Given the description of an element on the screen output the (x, y) to click on. 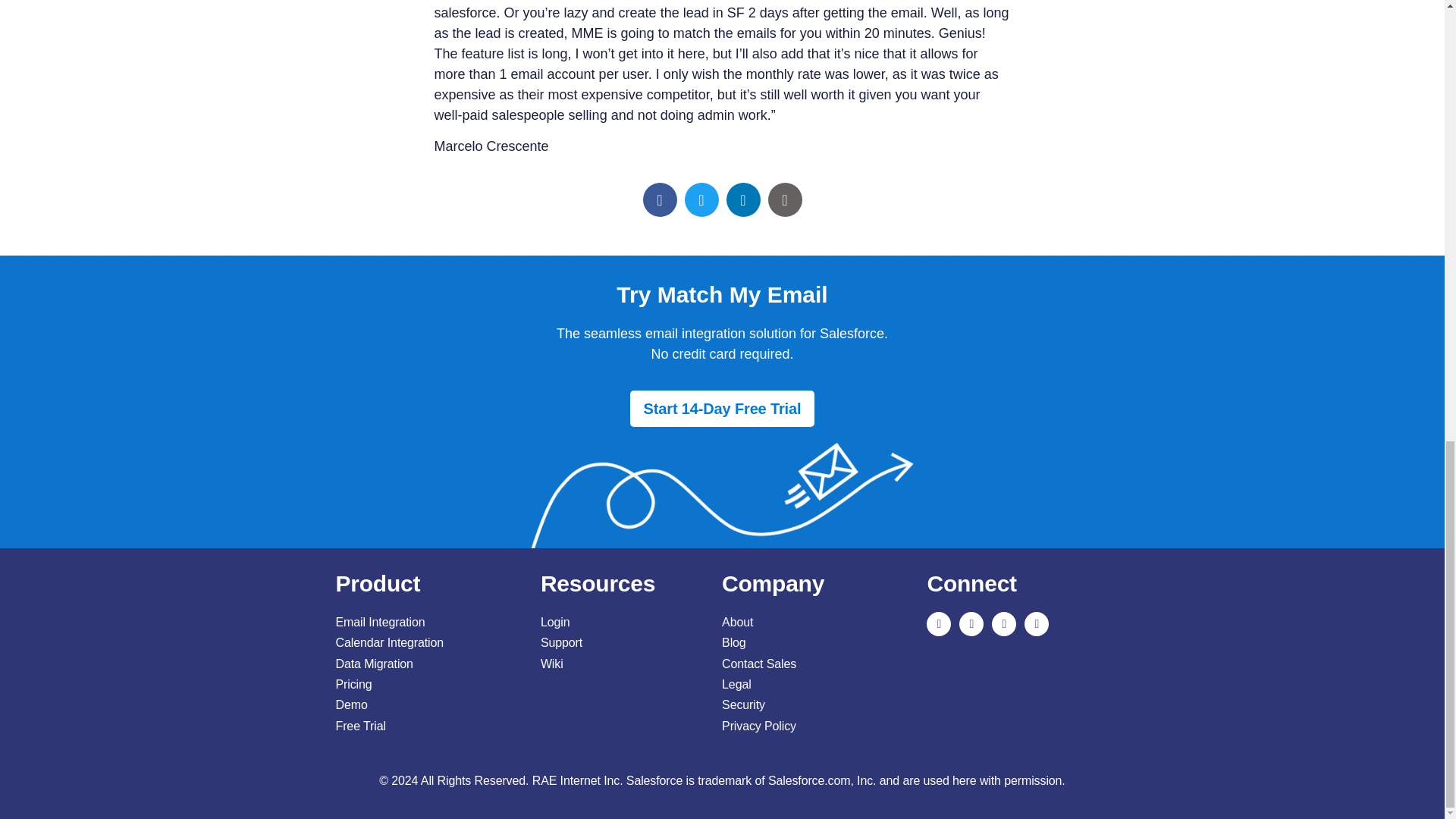
Pricing (429, 684)
Start 14-Day Free Trial (722, 408)
Free Trial (429, 725)
Demo (429, 705)
Calendar Integration (429, 643)
Data Migration (429, 663)
Email Integration (429, 621)
